Given the description of an element on the screen output the (x, y) to click on. 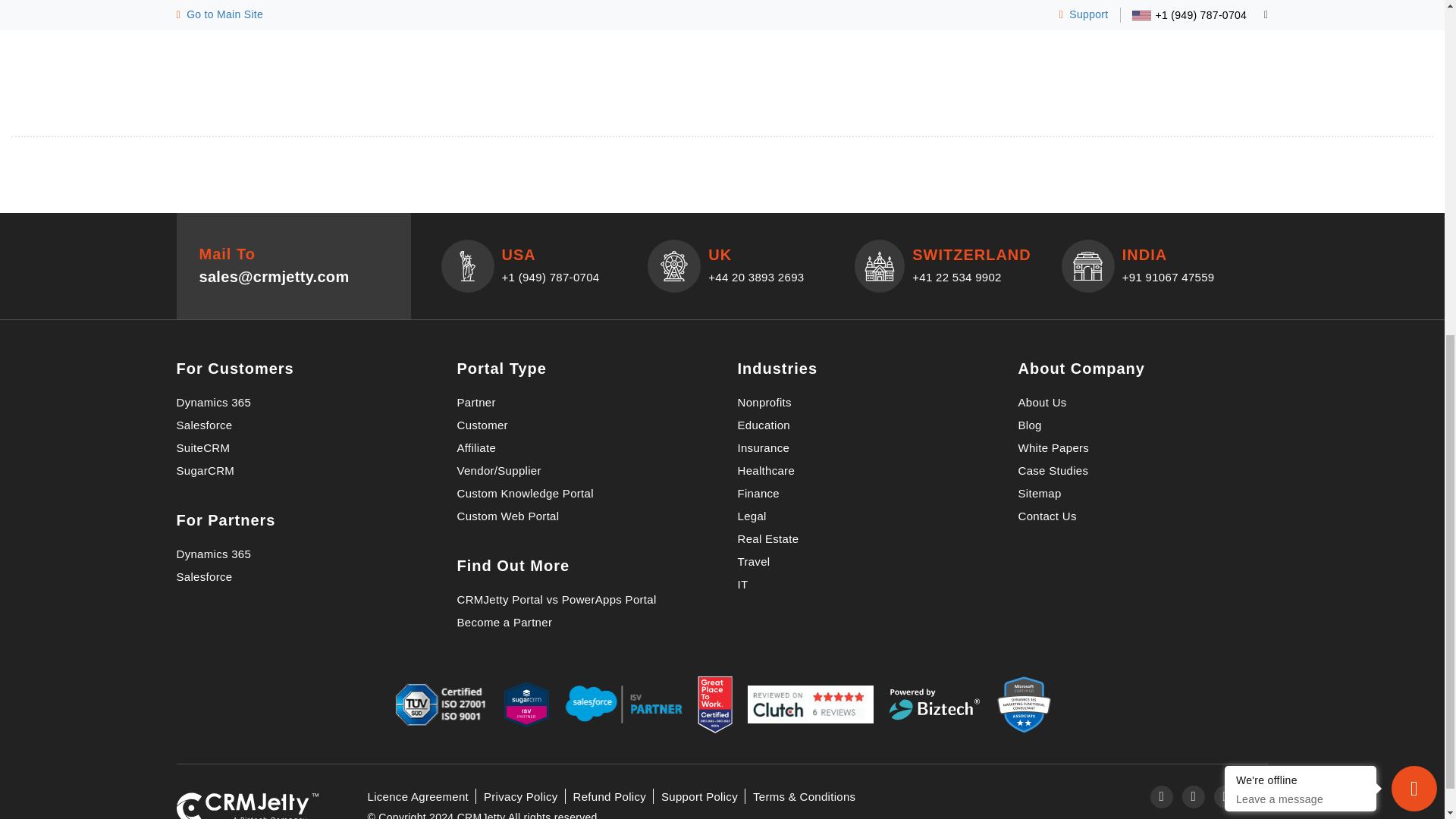
CRMJetty Portal vs PowerApps Portal (556, 599)
SuiteCRM (203, 447)
Dynamics 365 (213, 401)
Custom Web Portal (508, 515)
Become a Partner (504, 621)
Salesforce (203, 424)
Dynamics 365 (213, 553)
Dynamics 365 (213, 401)
USA (466, 265)
Salesforce (203, 424)
Salesforce (203, 576)
SugarCRM (205, 470)
INDIA (1088, 265)
Custom Knowledge Portal (524, 492)
Customer (481, 424)
